Given the description of an element on the screen output the (x, y) to click on. 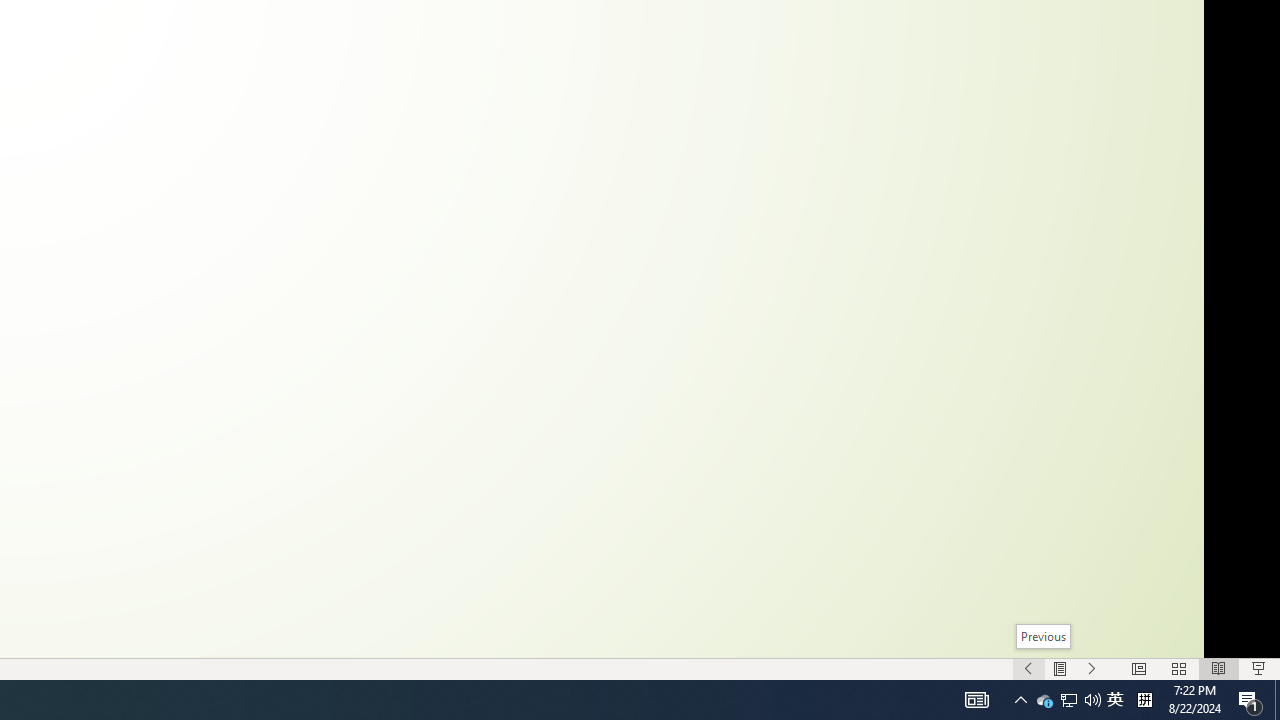
Menu On (1060, 668)
Slide Show Previous On (1028, 668)
Slide Show Next On (1092, 668)
